Given the description of an element on the screen output the (x, y) to click on. 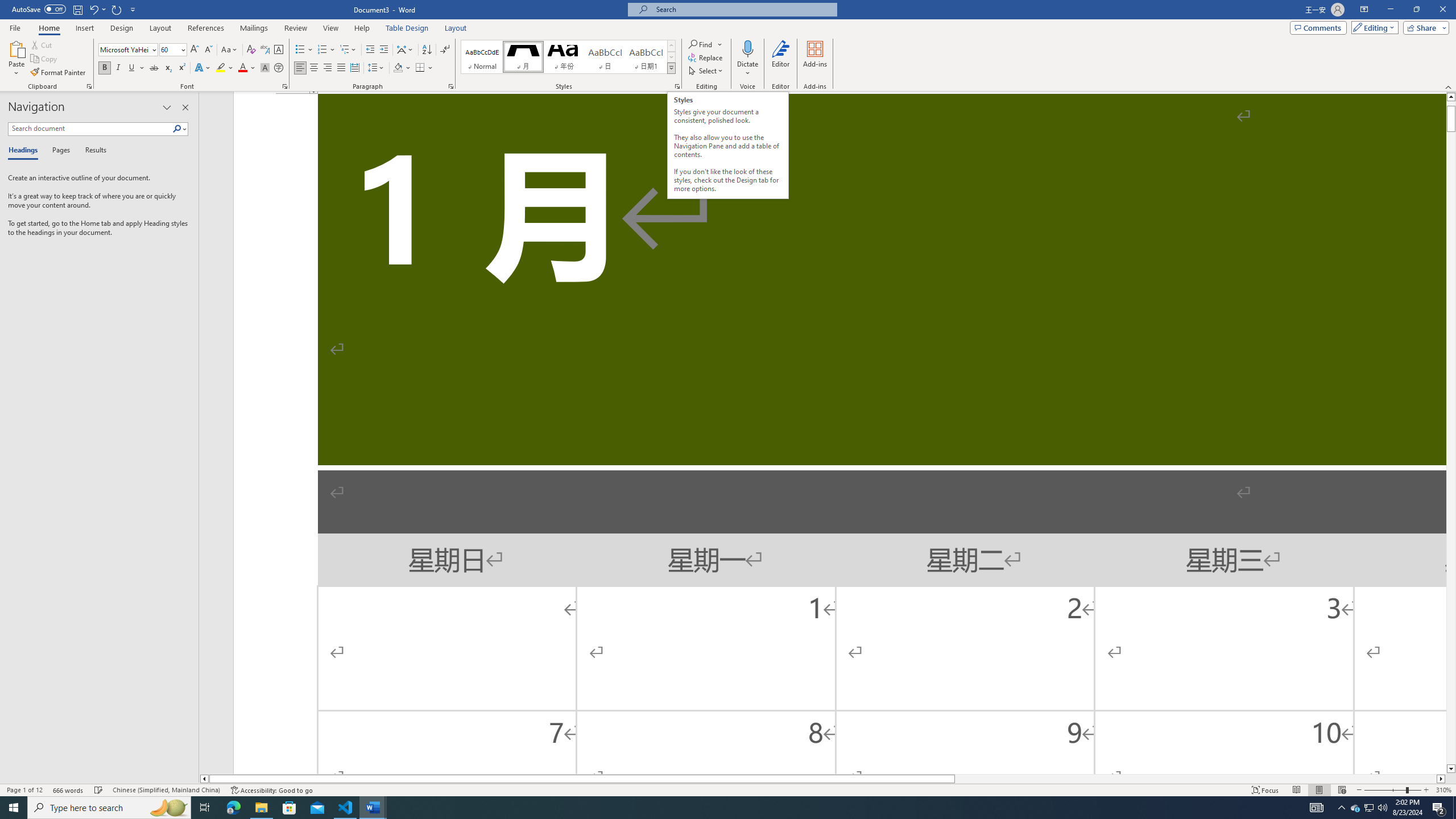
Shading RGB(0, 0, 0) (397, 67)
Replace... (705, 56)
AutoSave (38, 9)
Layout (455, 28)
Select (705, 69)
Zoom In (1426, 790)
Page 1 content (838, 433)
Paste (16, 48)
Align Right (327, 67)
Character Shading (264, 67)
Text Highlight Color Yellow (220, 67)
Ribbon Display Options (1364, 9)
Center (313, 67)
